Given the description of an element on the screen output the (x, y) to click on. 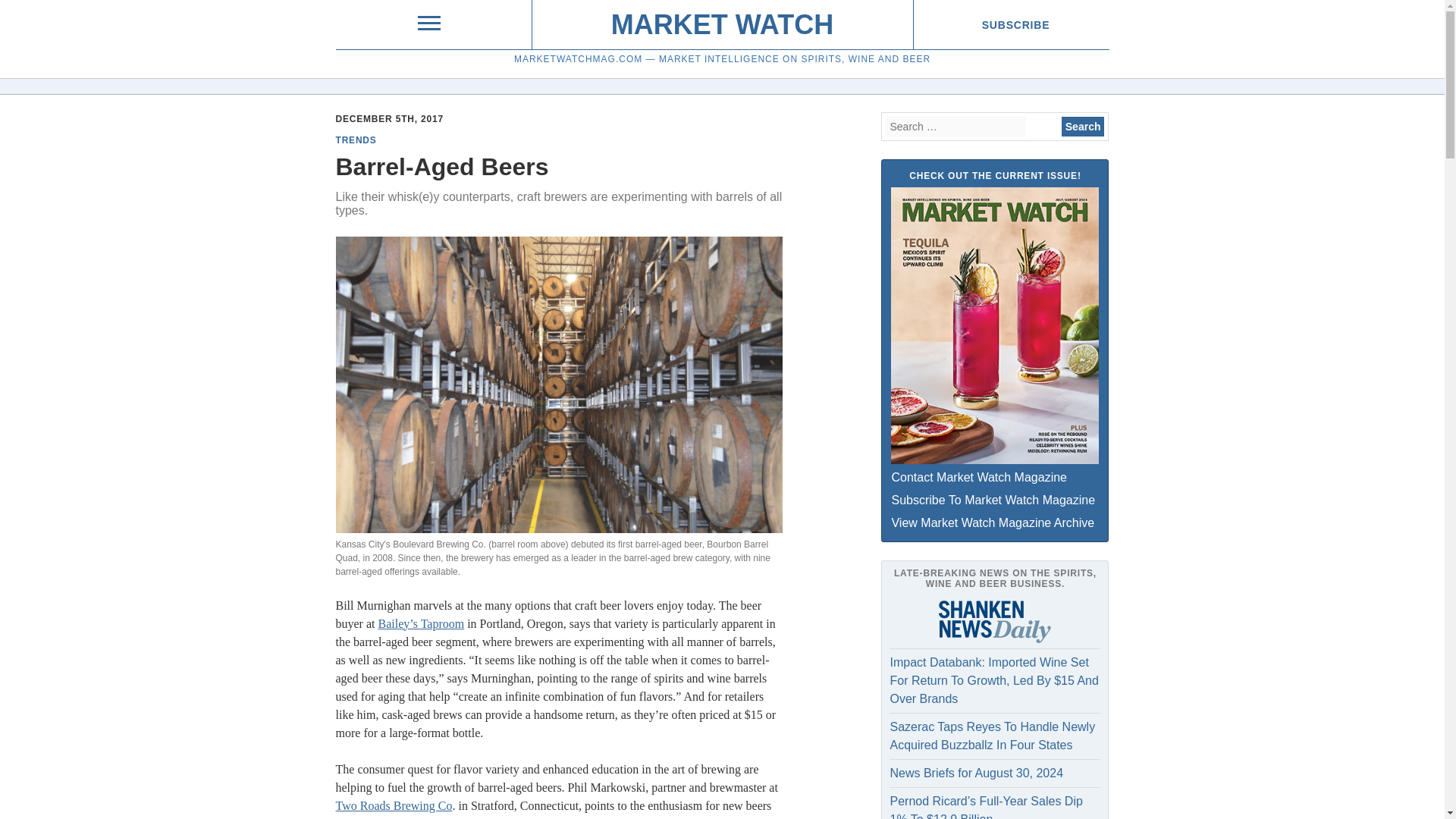
TRENDS (354, 140)
Search (1083, 126)
SUBSCRIBE (1014, 24)
MARKET WATCH (721, 24)
Search (1083, 126)
Two Roads Brewing Co (392, 805)
